Given the description of an element on the screen output the (x, y) to click on. 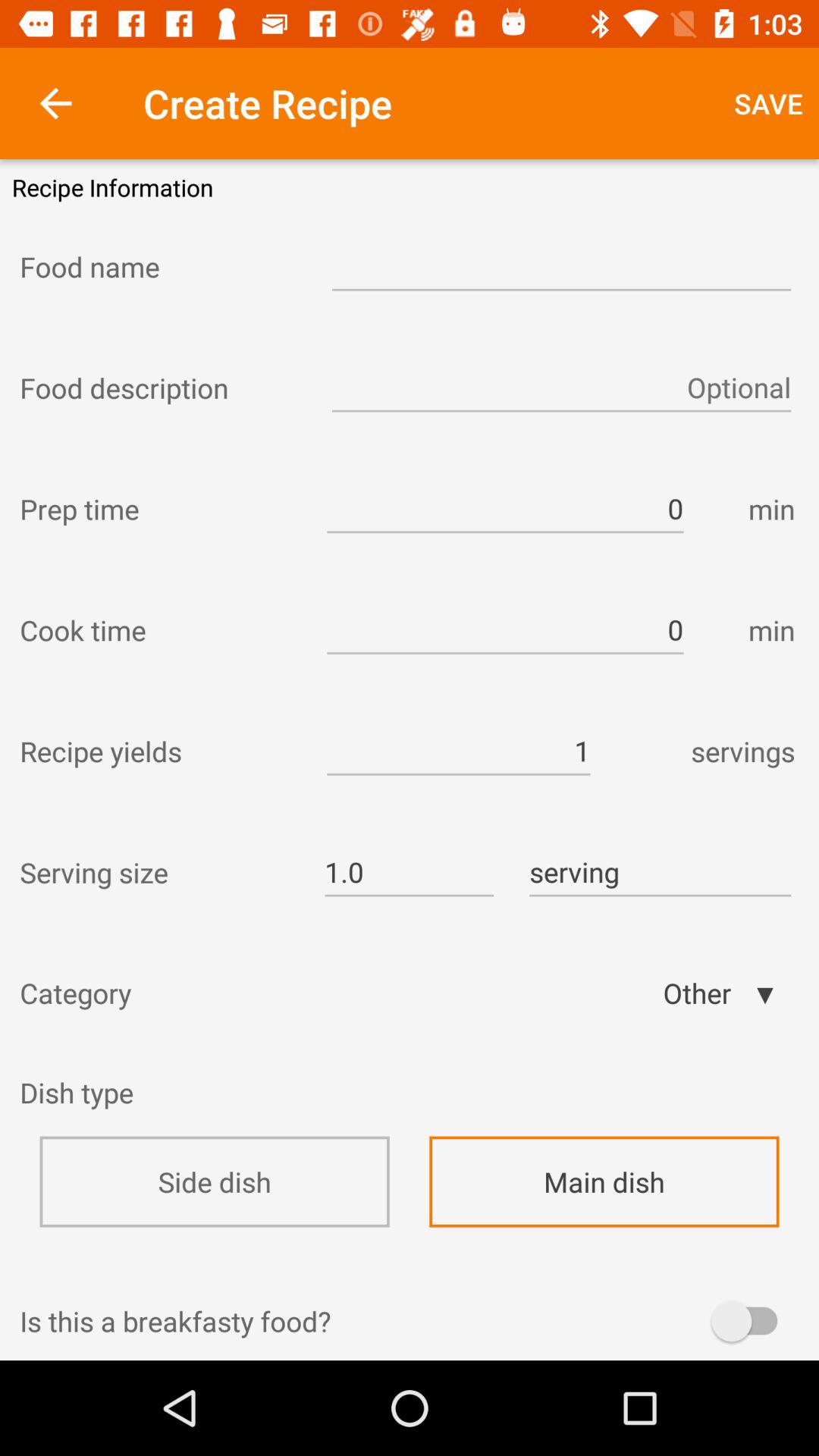
click the is this a item (409, 1321)
